Given the description of an element on the screen output the (x, y) to click on. 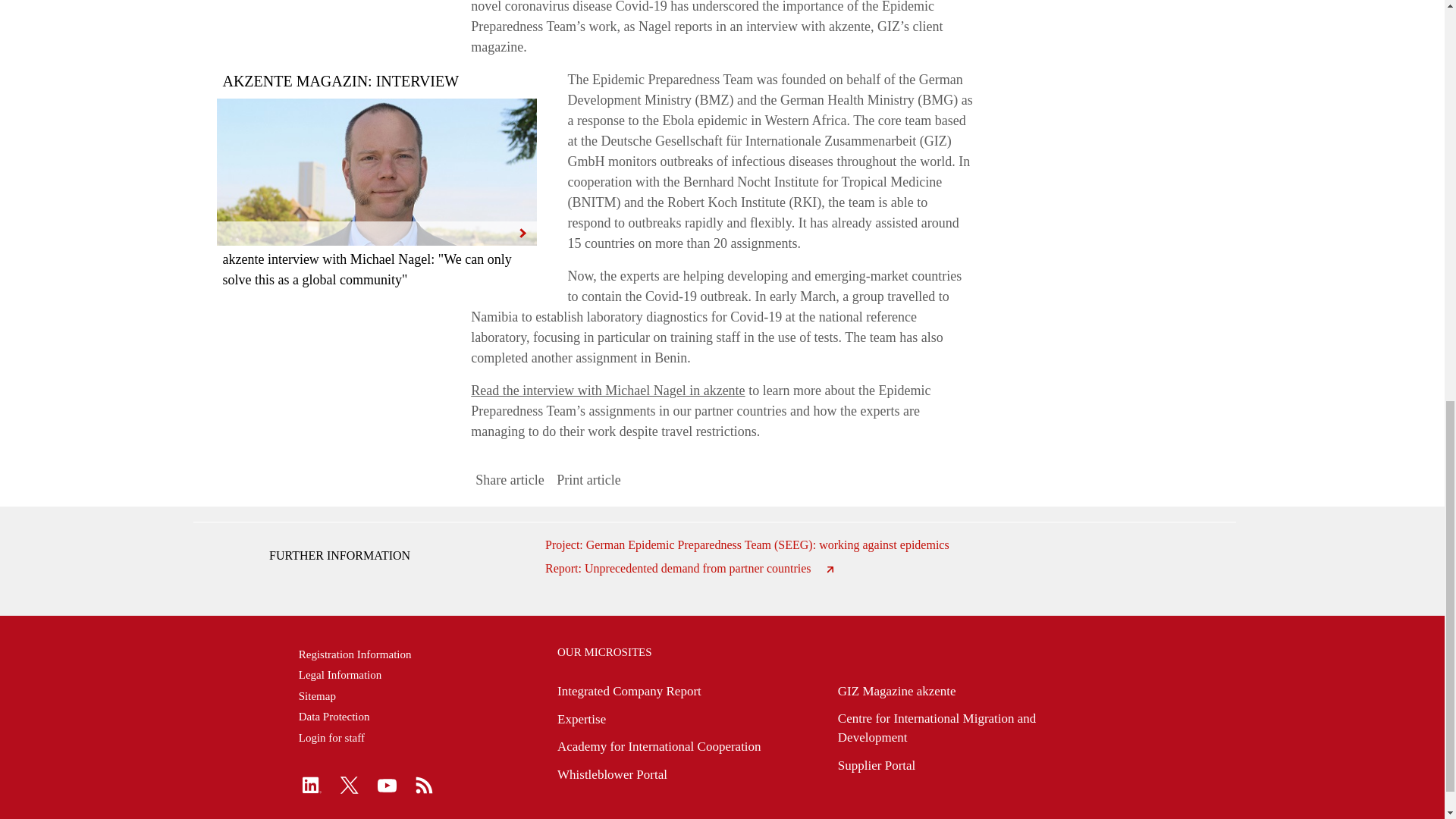
Print article (587, 480)
Read the interview with Michael Nagel in akzente (607, 390)
Share article (509, 480)
